Given the description of an element on the screen output the (x, y) to click on. 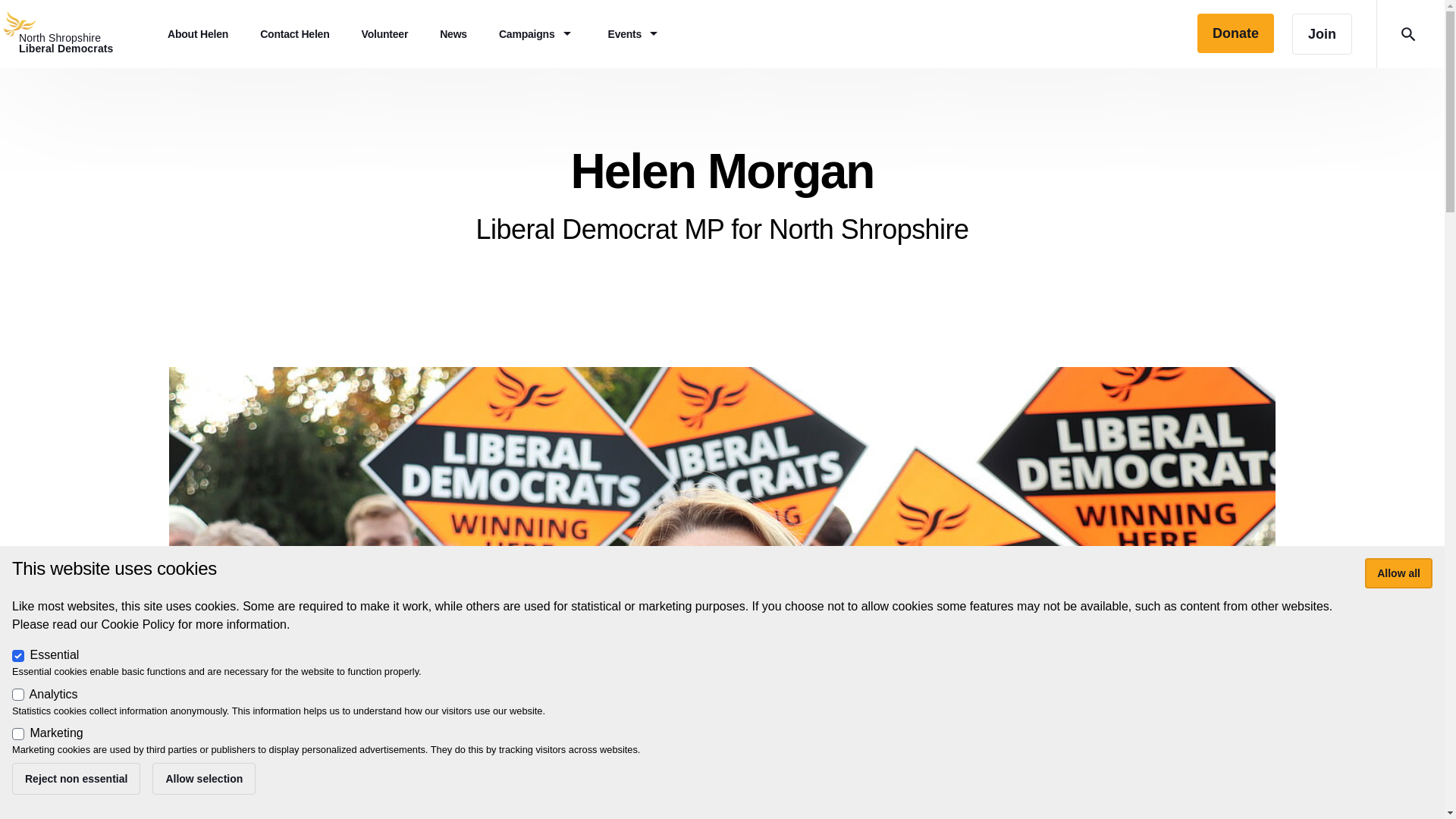
Contact Helen (294, 33)
1 (17, 655)
Reject non essential (75, 778)
Return to home page (75, 33)
Events (635, 33)
Allow selection (75, 33)
Allow all (204, 778)
Volunteer (1398, 572)
About Helen (385, 33)
